Given the description of an element on the screen output the (x, y) to click on. 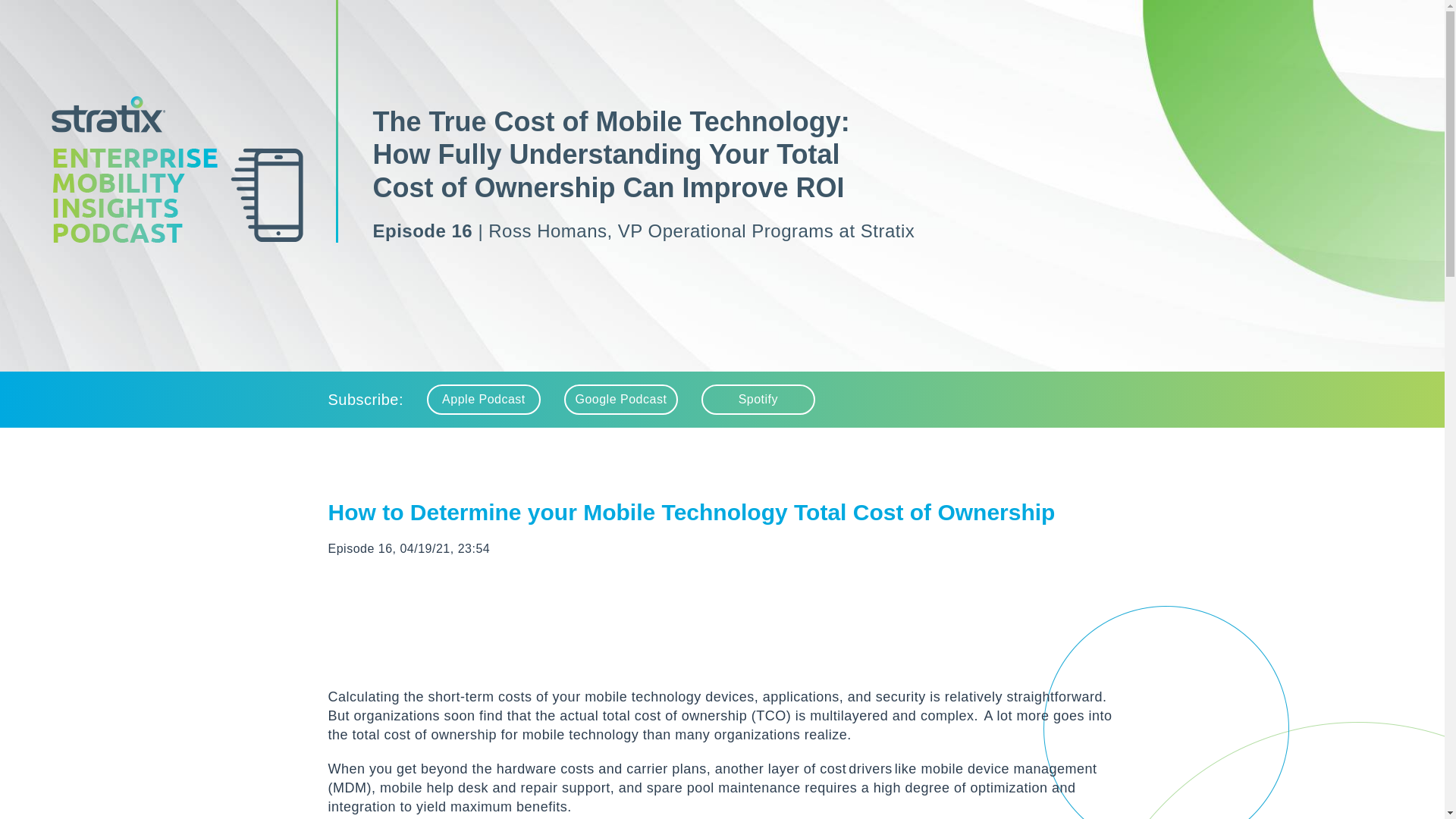
Google Podcast (621, 399)
Spotify (758, 399)
Apple Podcast (483, 399)
